Given the description of an element on the screen output the (x, y) to click on. 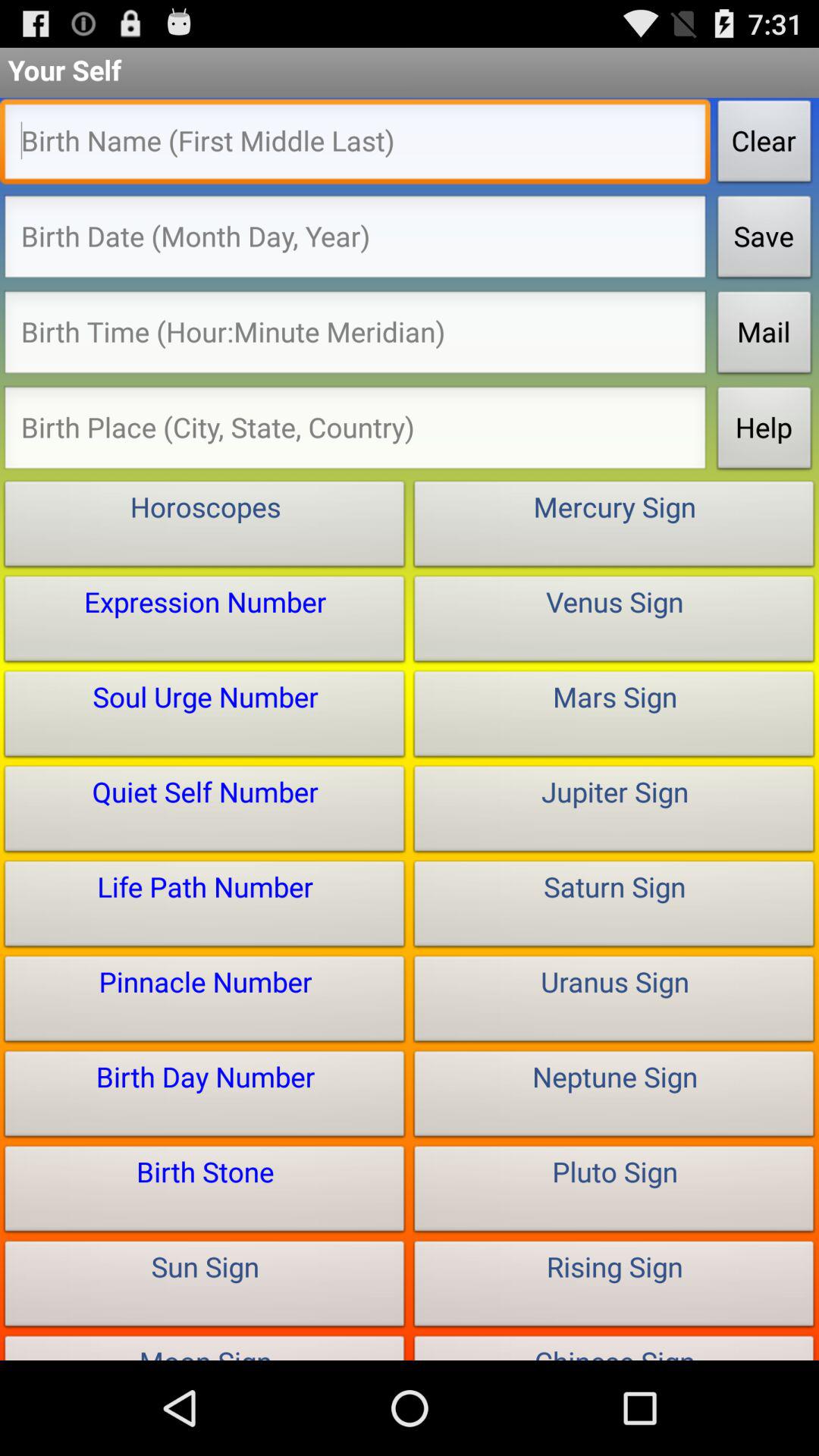
enter date of birth (355, 240)
